Given the description of an element on the screen output the (x, y) to click on. 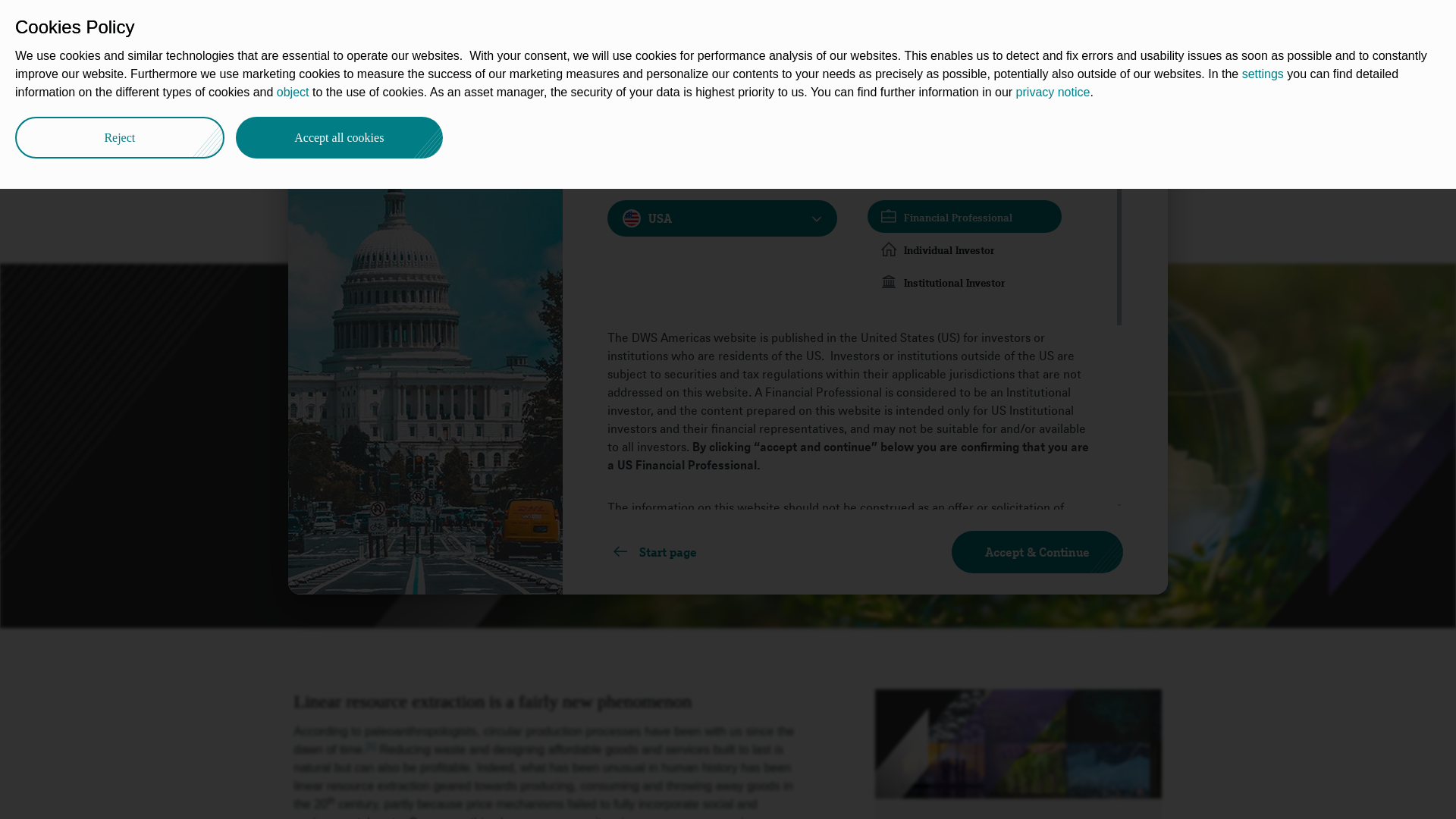
Home (322, 92)
Solutions (614, 24)
Macro (531, 92)
Profile (792, 24)
Insights (376, 92)
DWS - Investors for a new now (322, 92)
Insights (420, 24)
Products (673, 24)
Resources (736, 24)
Share (1140, 90)
Strategies (551, 24)
Global CIO View (455, 92)
Global CIO View (455, 92)
Macro (531, 92)
Print (1159, 91)
